Given the description of an element on the screen output the (x, y) to click on. 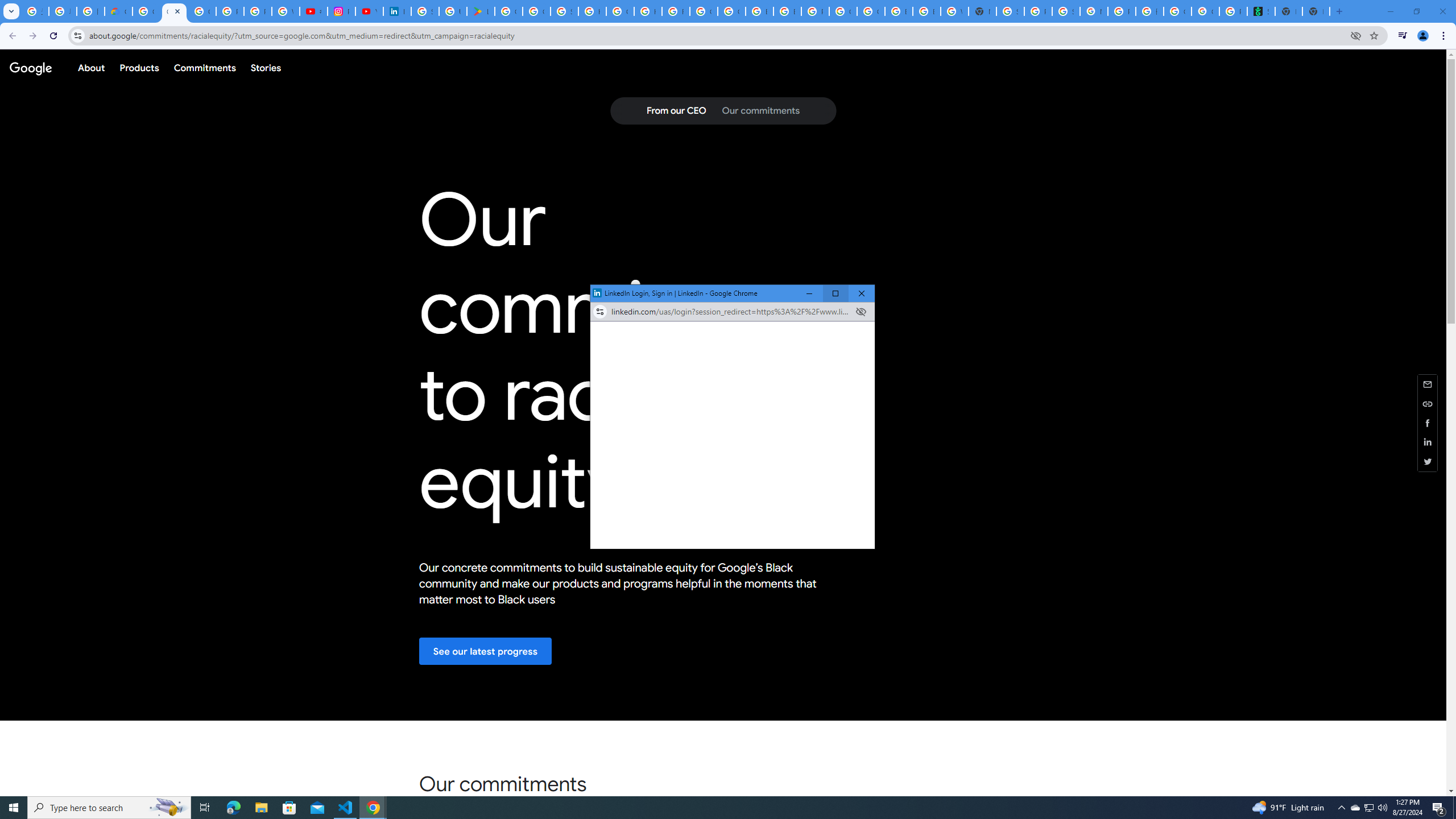
Microsoft Store (289, 807)
Identity verification via Persona | LinkedIn Help (397, 11)
Stories (265, 67)
Type here to search (108, 807)
Task View (204, 807)
Share this page (Twitter) (1355, 807)
Our commitments: Jump to page section (1427, 461)
